Given the description of an element on the screen output the (x, y) to click on. 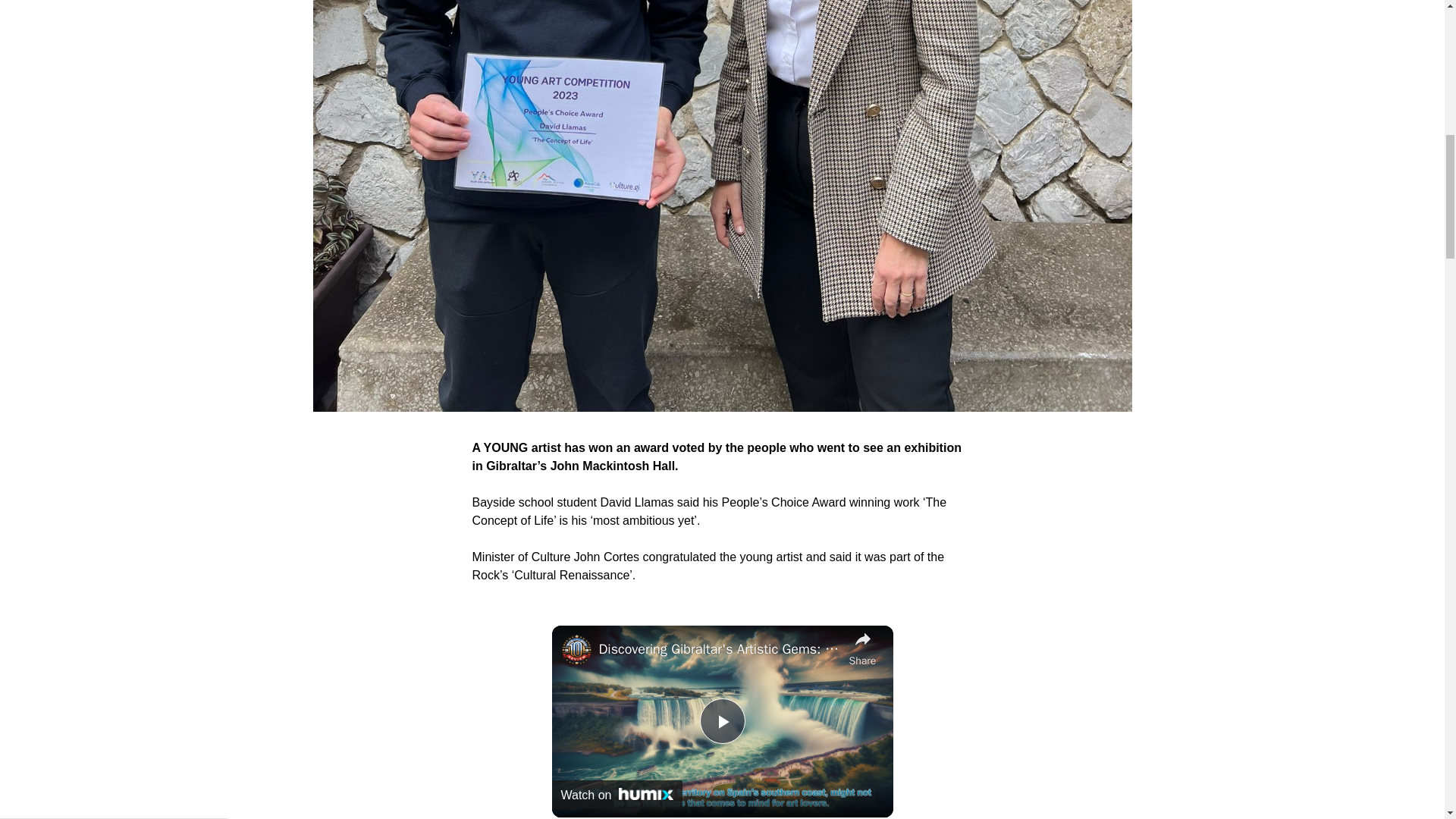
Play Video (1396, 22)
share (721, 720)
